Given the description of an element on the screen output the (x, y) to click on. 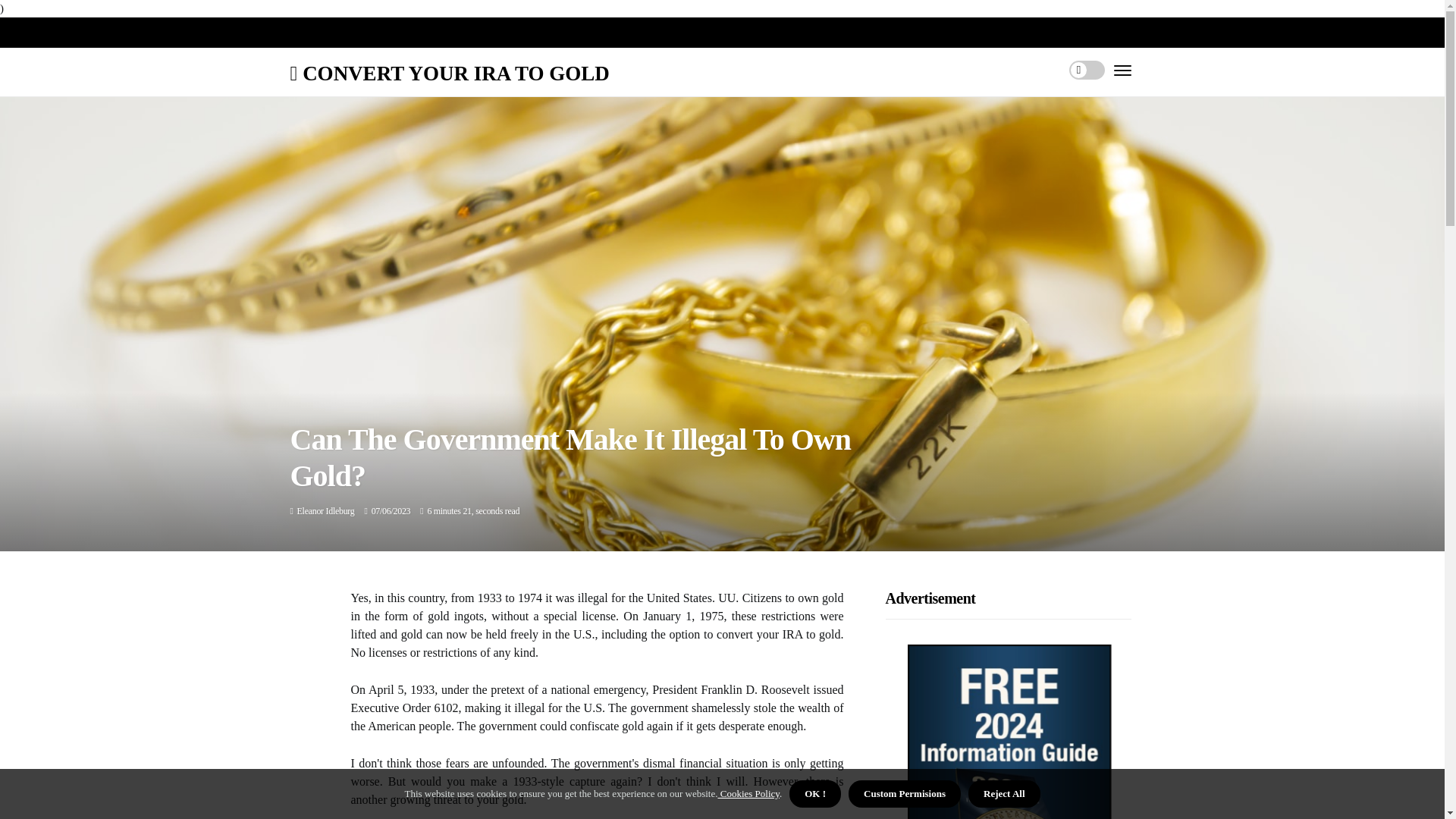
Eleanor Idleburg (326, 511)
CONVERT YOUR IRA TO GOLD (448, 73)
Posts by Eleanor Idleburg (326, 511)
